Given the description of an element on the screen output the (x, y) to click on. 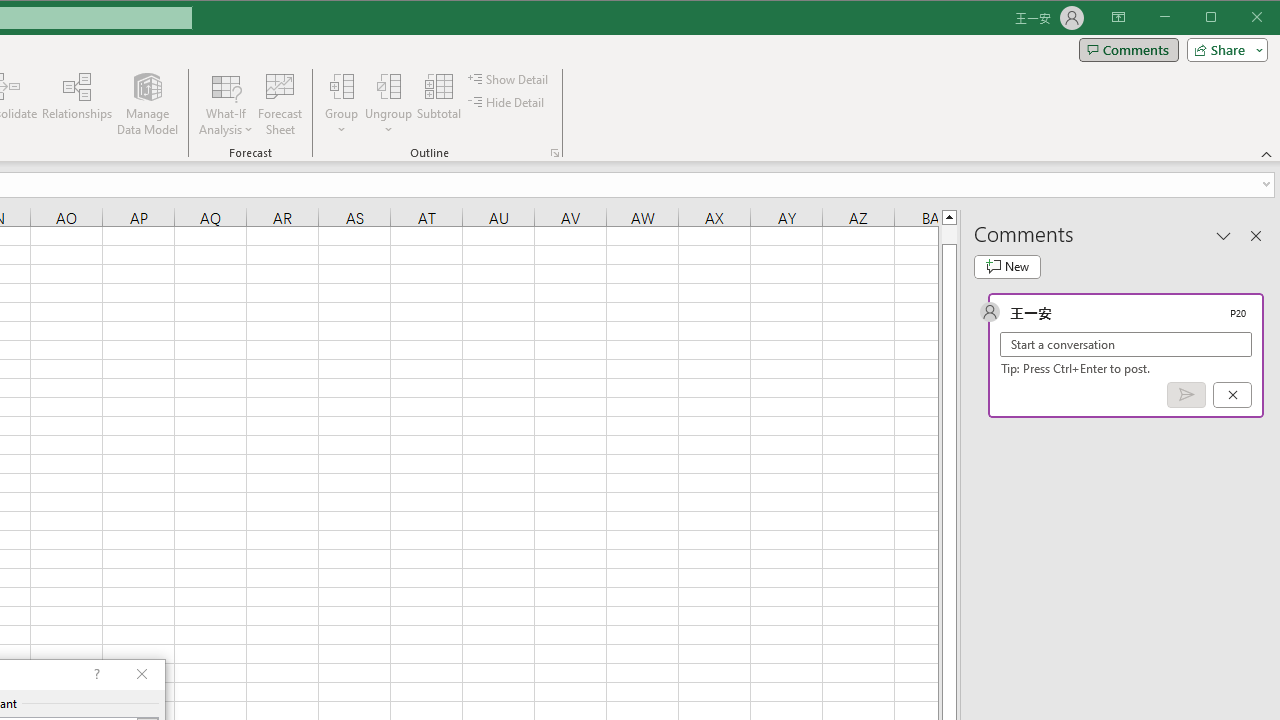
Cancel (1232, 395)
New comment (1007, 266)
Page up (948, 234)
Start a conversation (1126, 344)
